Given the description of an element on the screen output the (x, y) to click on. 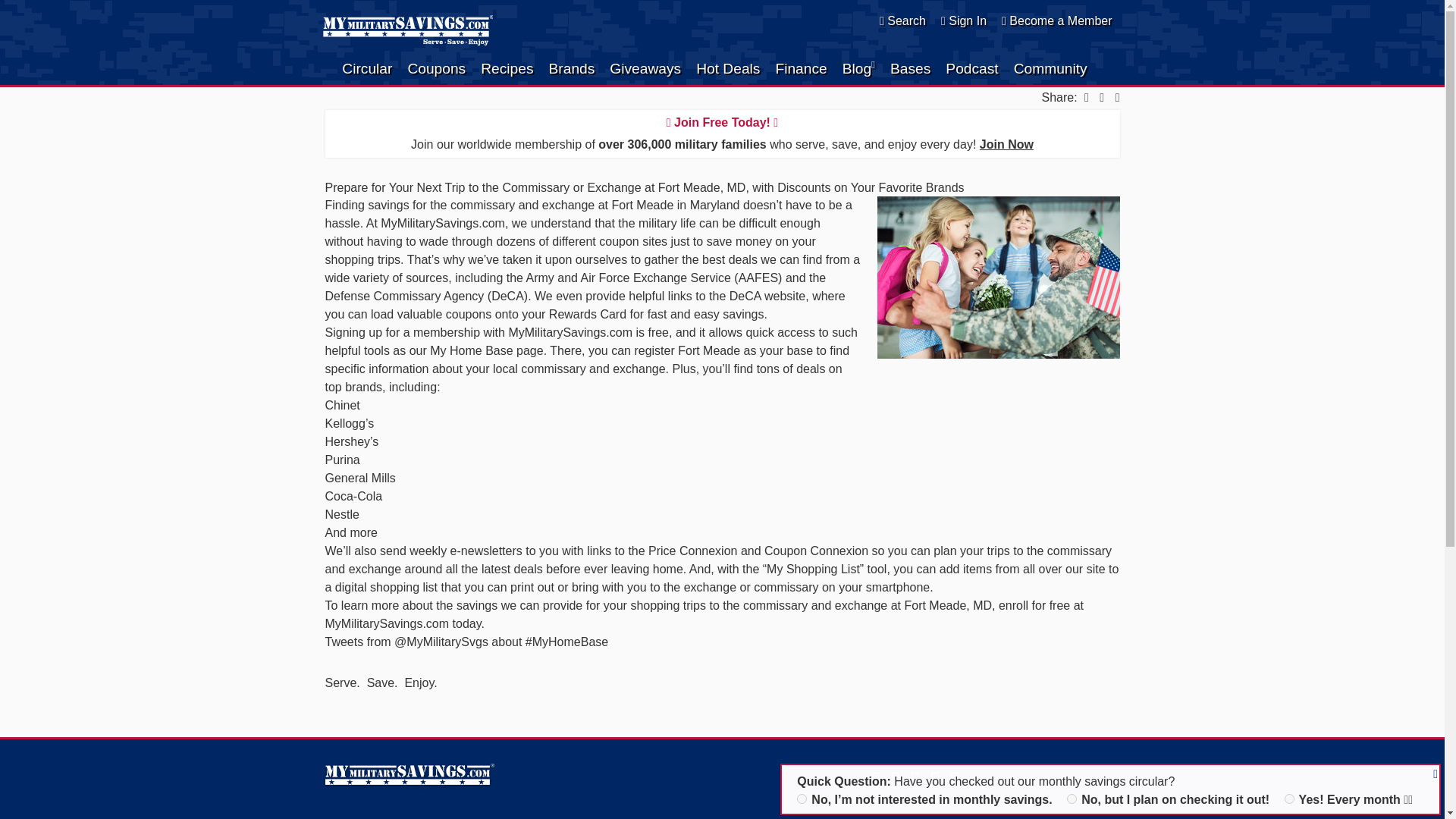
1208 (1072, 798)
Coupons (436, 69)
Sign In (963, 20)
1207 (1289, 798)
Giveaways (645, 69)
Blog (859, 69)
Become a Member (1056, 20)
Bases (909, 69)
1209 (801, 798)
